Given the description of an element on the screen output the (x, y) to click on. 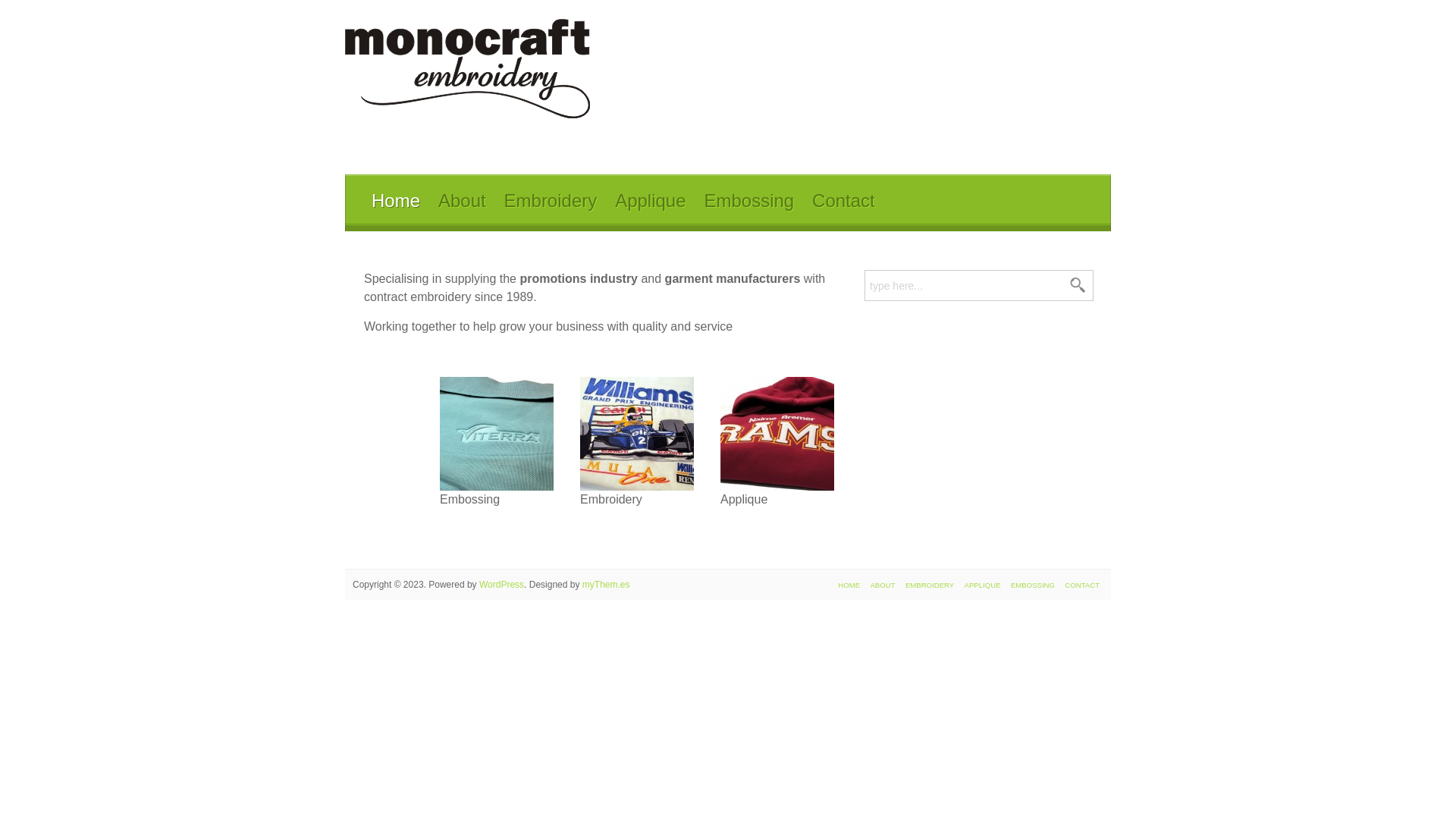
Monocraft Embroidery | Applique | Embossing Element type: hover (467, 68)
myThem.es Element type: text (606, 584)
Contact Element type: text (843, 202)
ABOUT Element type: text (881, 584)
Applique Element type: text (650, 202)
HOME Element type: text (848, 584)
Embroidery Element type: text (550, 202)
WordPress Element type: text (501, 584)
About Element type: text (462, 202)
EMBROIDERY Element type: text (929, 584)
Embossing Element type: text (748, 202)
EMBOSSING Element type: text (1032, 584)
APPLIQUE Element type: text (982, 584)
Home Element type: text (395, 202)
CONTACT Element type: text (1081, 584)
